Given the description of an element on the screen output the (x, y) to click on. 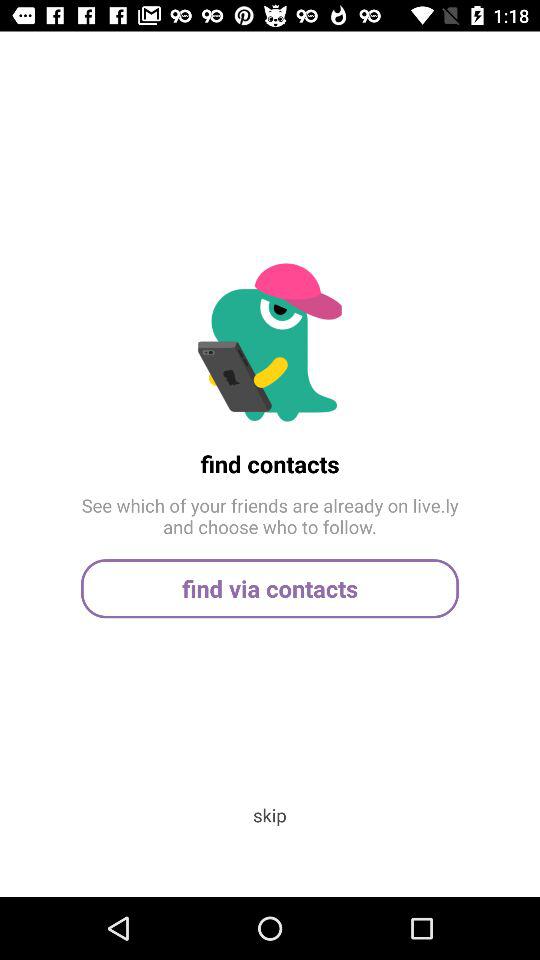
turn on the app below the find via contacts (269, 814)
